Given the description of an element on the screen output the (x, y) to click on. 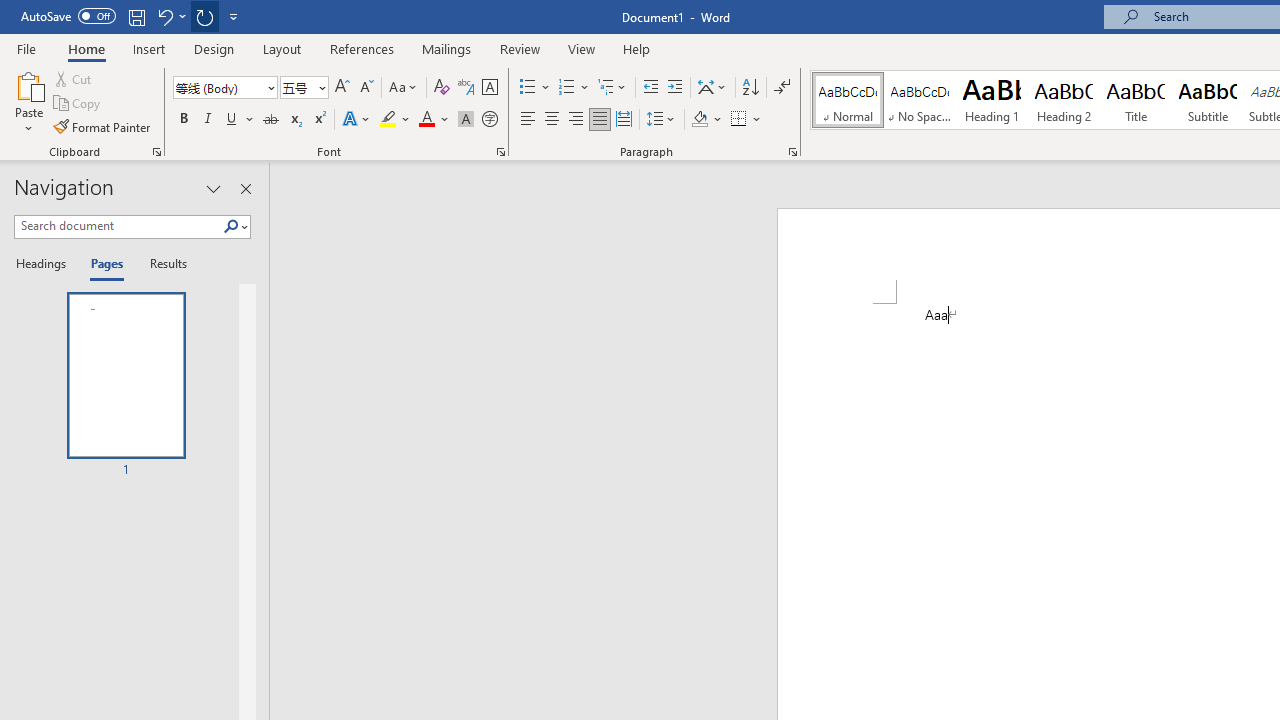
Undo Style (164, 15)
Bullets (535, 87)
Change Case (404, 87)
Shading (706, 119)
Office Clipboard... (156, 151)
References (362, 48)
Font (224, 87)
Design (214, 48)
Font Color (434, 119)
Search document (118, 226)
Results (161, 264)
Justify (599, 119)
Task Pane Options (214, 188)
Paste (28, 84)
